Given the description of an element on the screen output the (x, y) to click on. 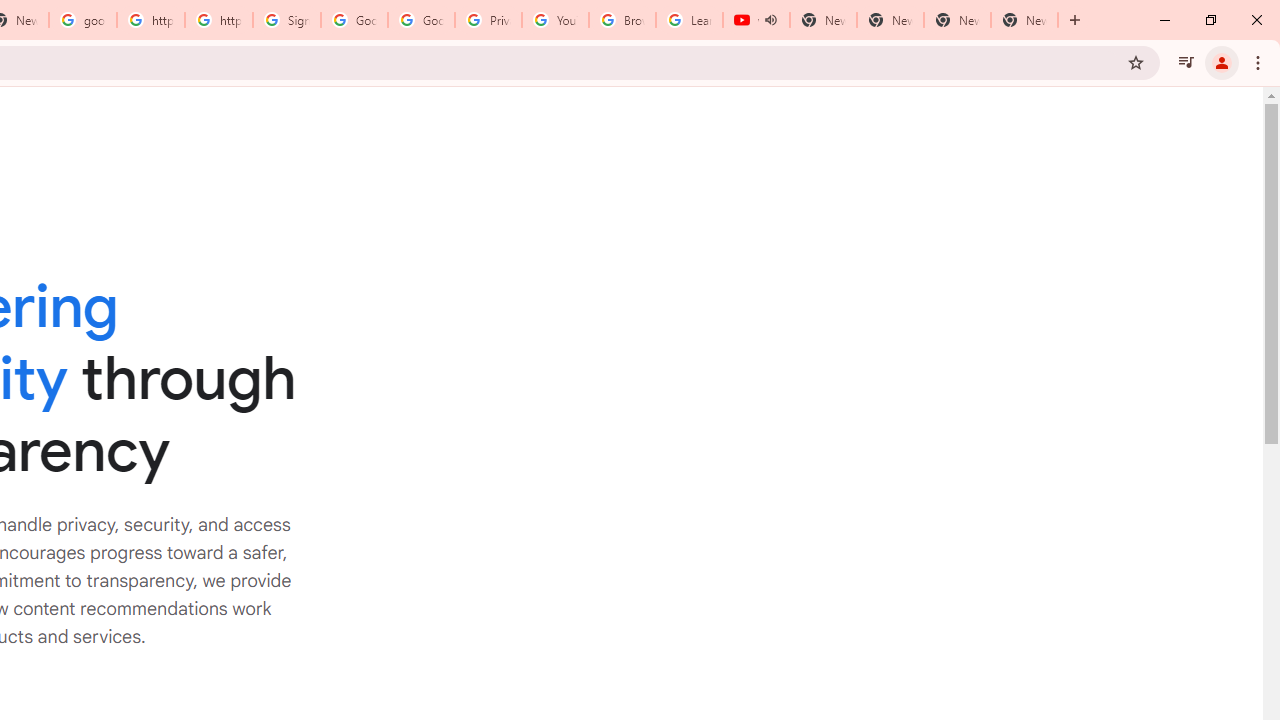
https://scholar.google.com/ (150, 20)
YouTube (555, 20)
